Given the description of an element on the screen output the (x, y) to click on. 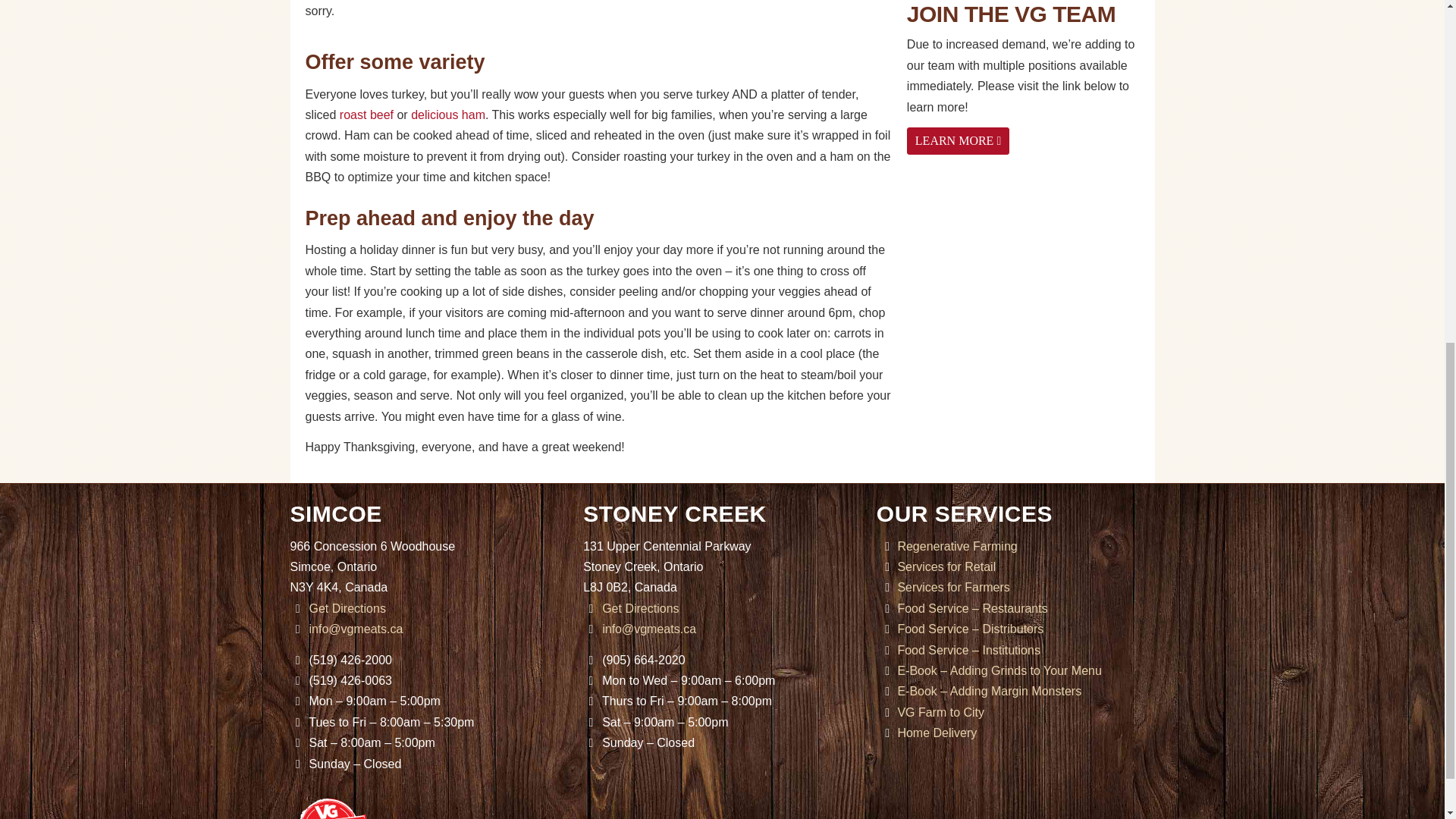
roast beef (366, 114)
